Given the description of an element on the screen output the (x, y) to click on. 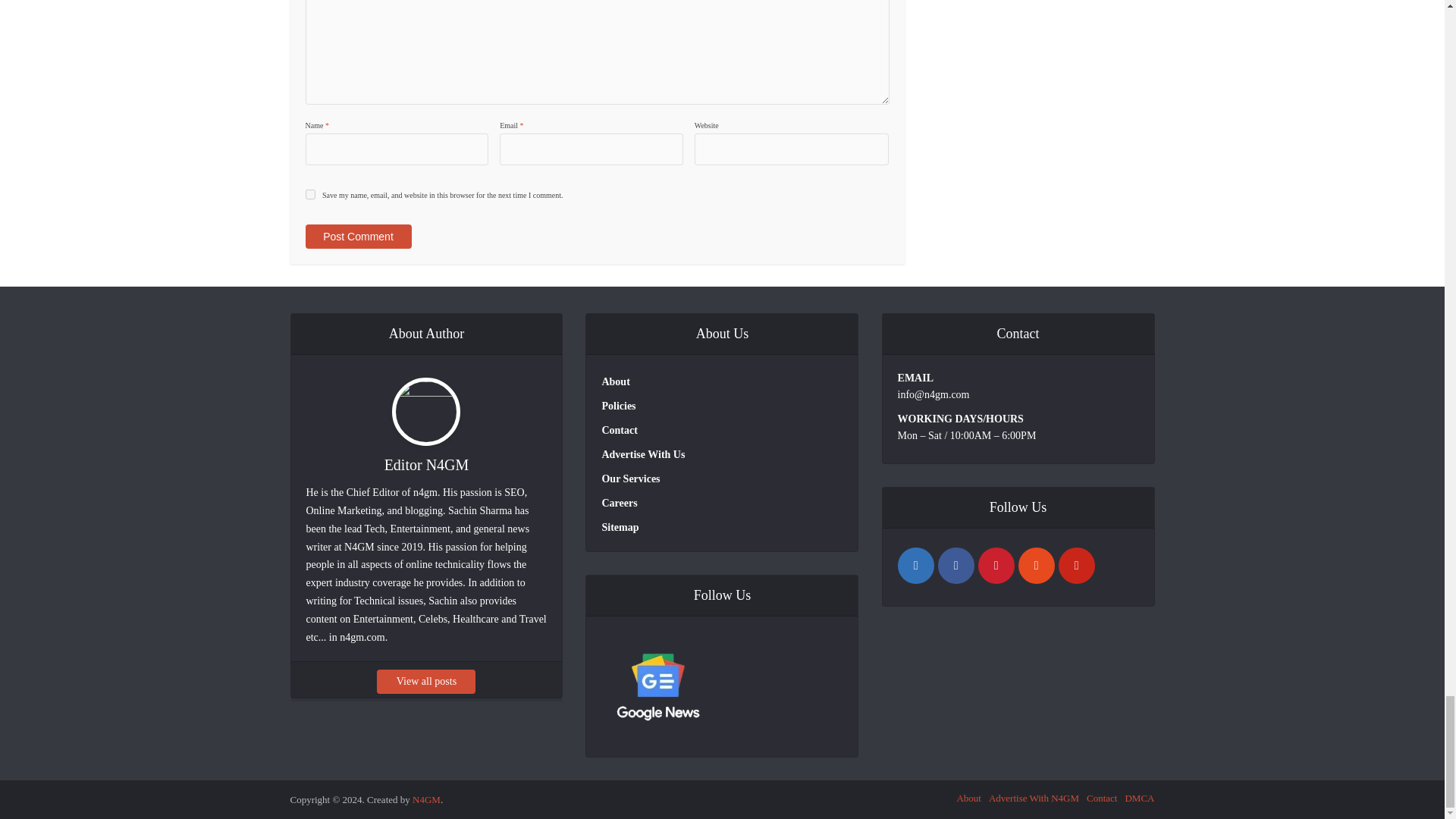
yes (309, 194)
Post Comment (357, 236)
